Given the description of an element on the screen output the (x, y) to click on. 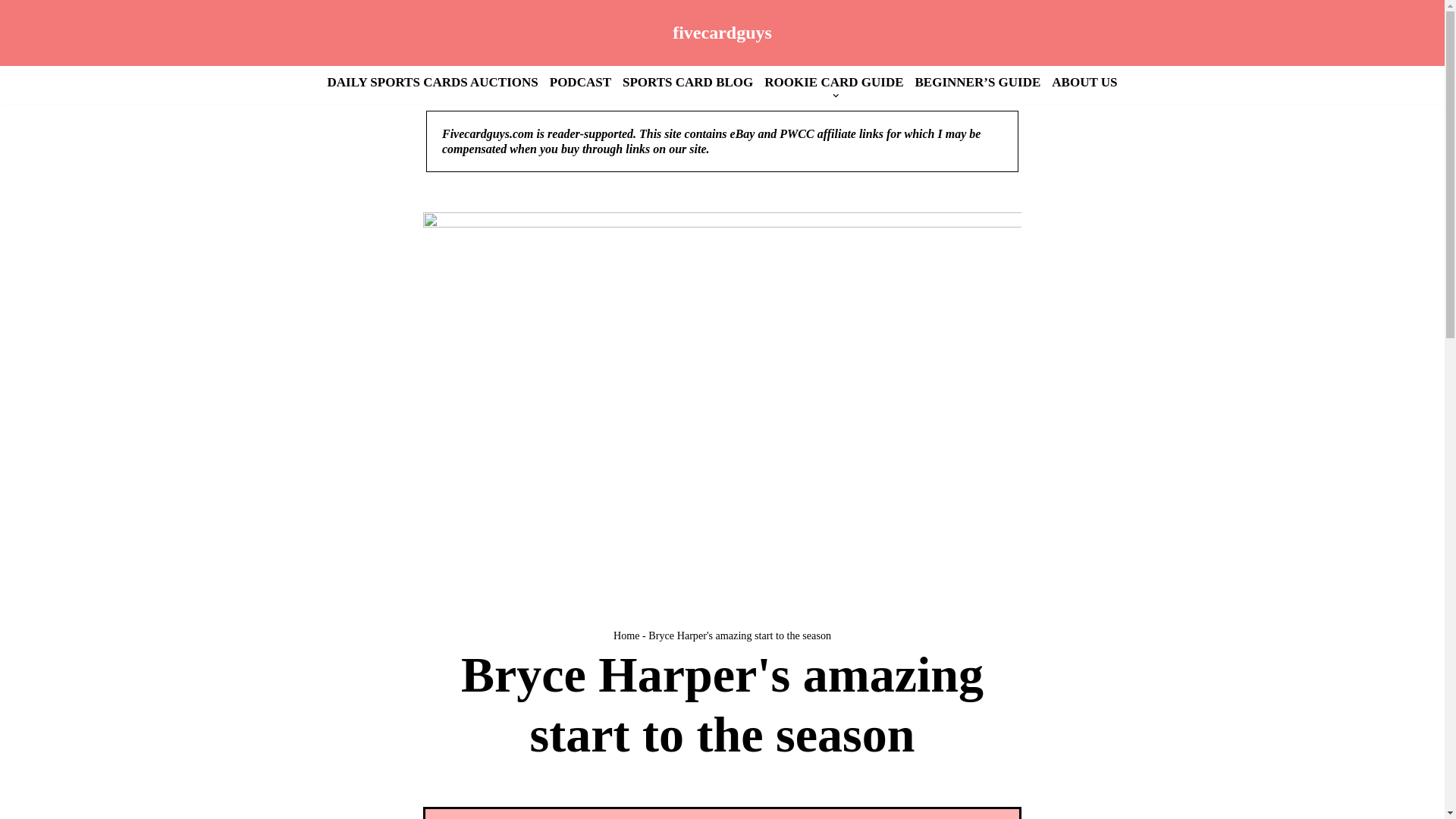
fivecardguys (721, 32)
SPORTS CARD BLOG (687, 82)
ABOUT US (1083, 82)
PODCAST (580, 82)
ROOKIE CARD GUIDE (833, 82)
DAILY SPORTS CARDS AUCTIONS (432, 82)
Home (626, 635)
Skip to content (11, 31)
